Given the description of an element on the screen output the (x, y) to click on. 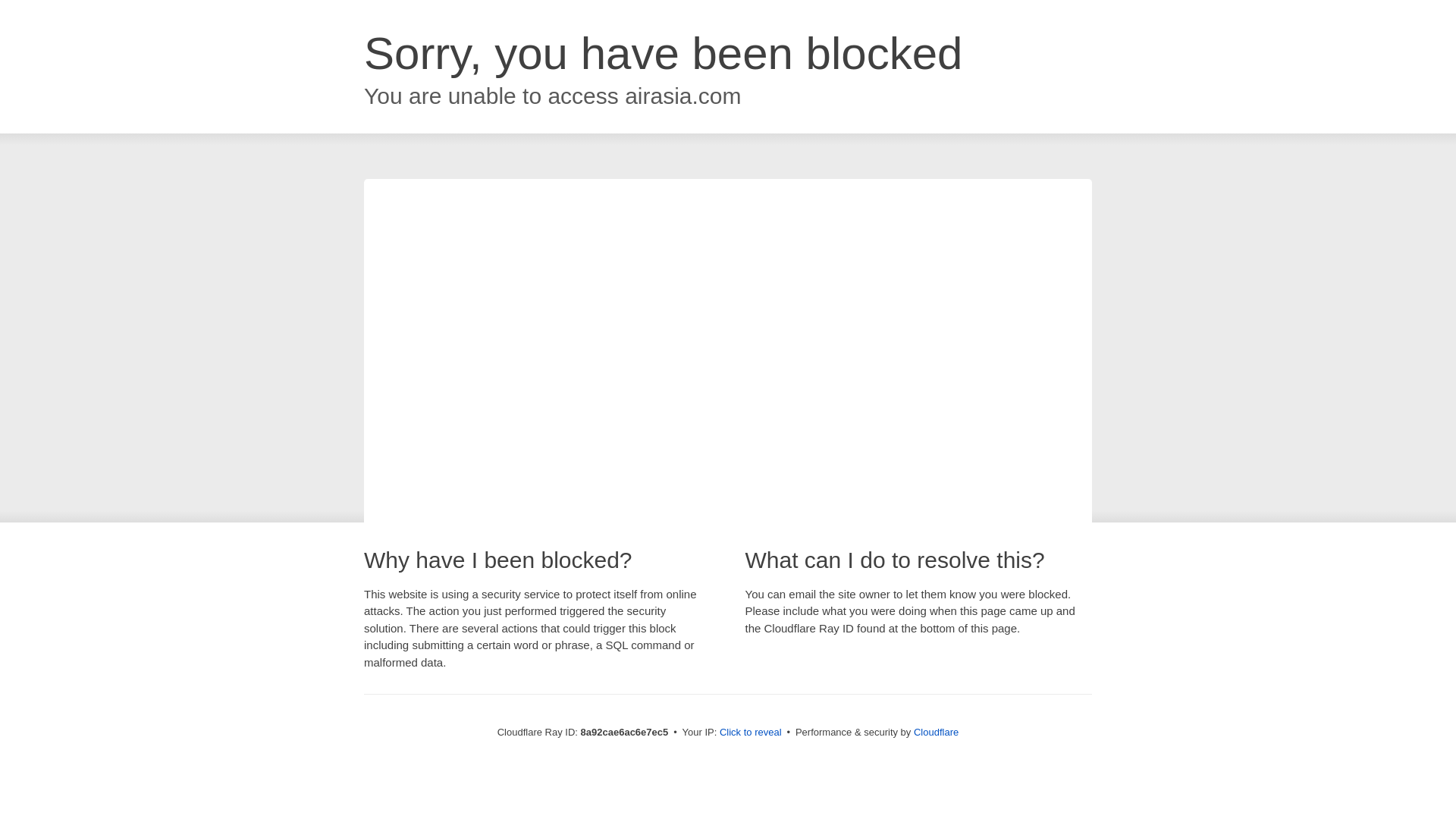
Cloudflare (936, 731)
Click to reveal (750, 732)
